Given the description of an element on the screen output the (x, y) to click on. 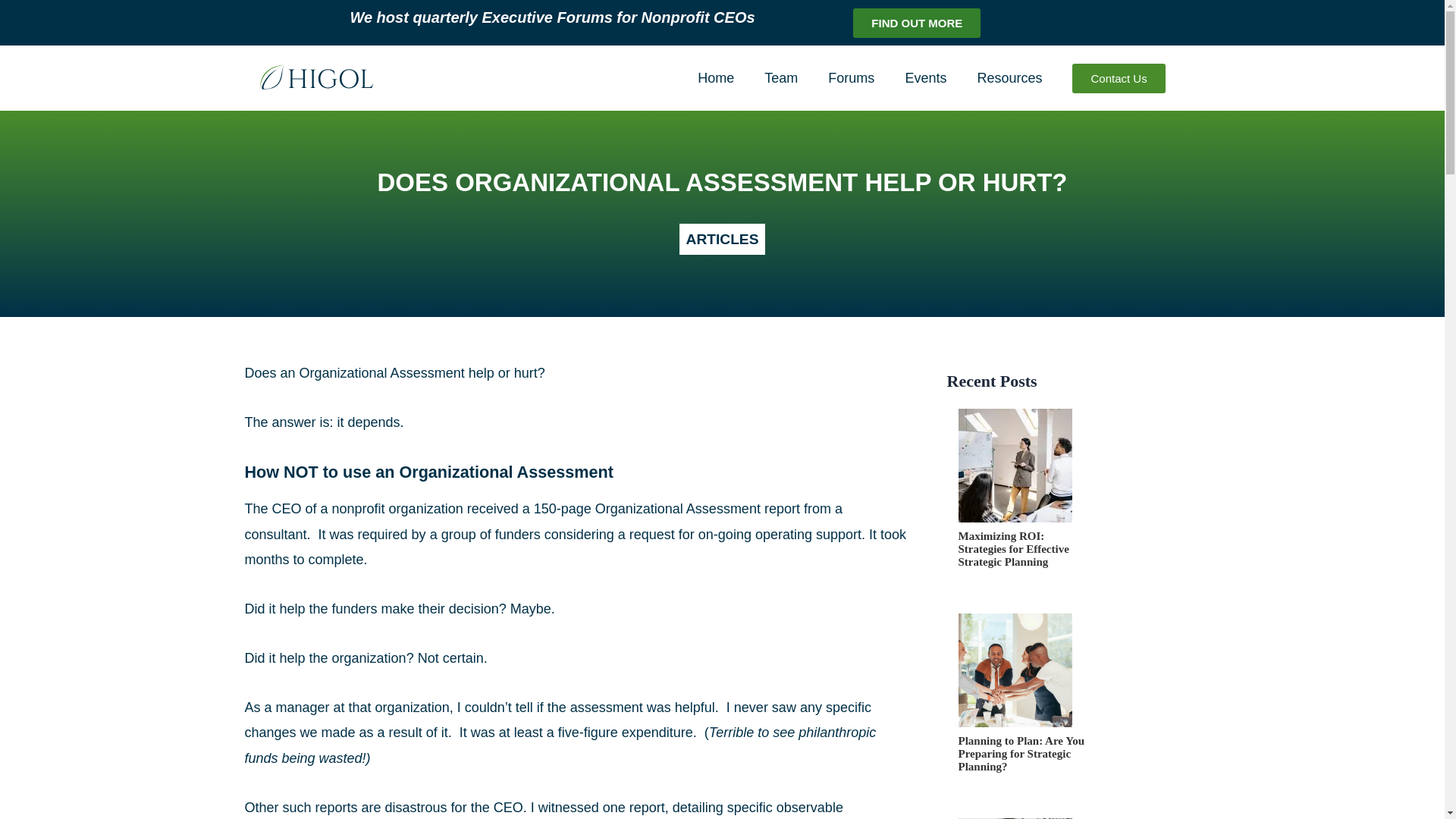
Resources (1008, 77)
FIND OUT MORE (916, 21)
Home (715, 77)
Forums (850, 77)
Contact Us (1117, 78)
Team (780, 77)
Planning to Plan: Are You Preparing for Strategic Planning? (1021, 768)
Events (924, 77)
Maximizing ROI: Strategies for Effective Strategic Planning (1021, 564)
